Given the description of an element on the screen output the (x, y) to click on. 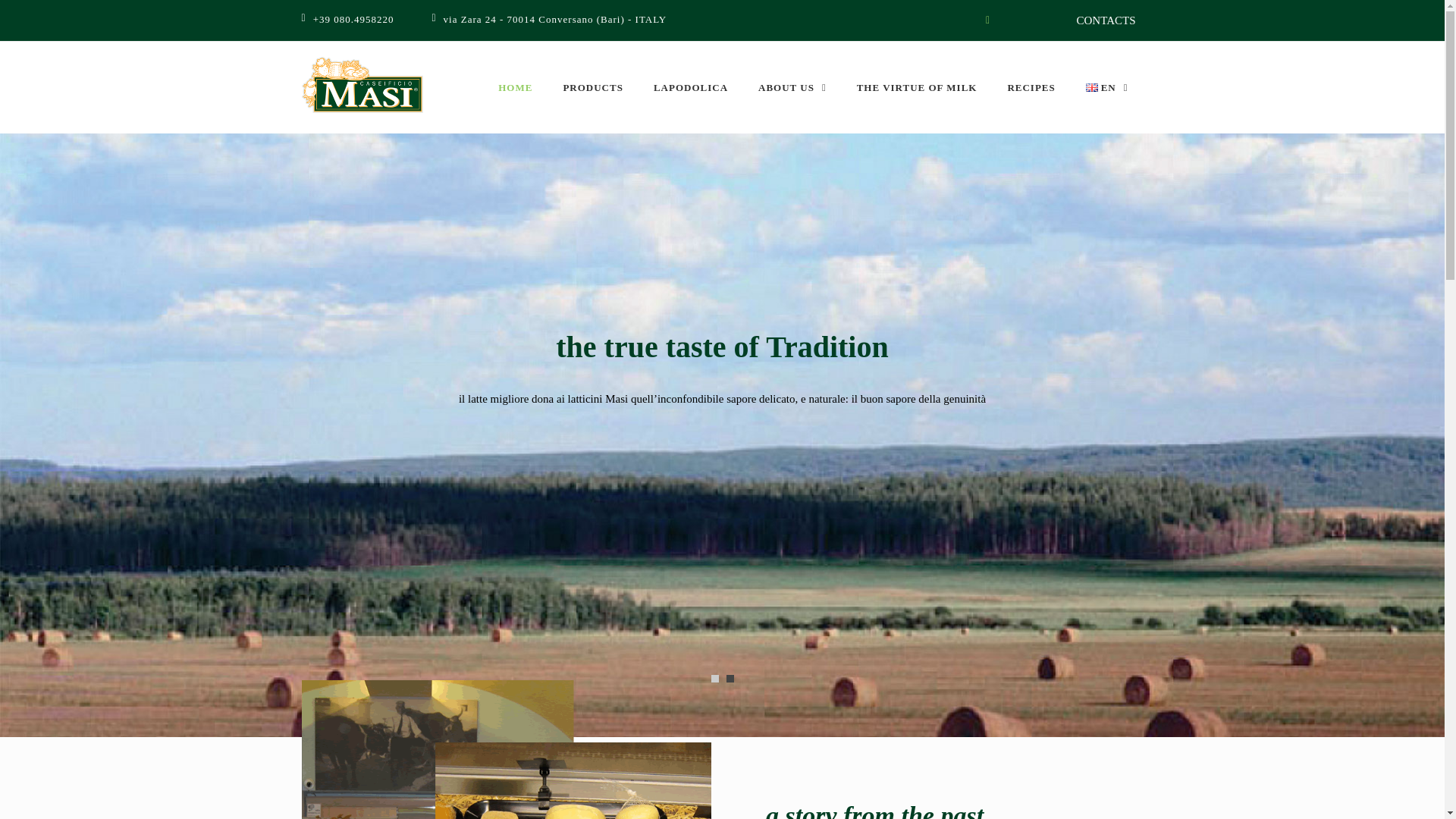
THE VIRTUE OF MILK (916, 87)
HOME (515, 87)
CONTACTS (1105, 20)
ABOUT US (791, 87)
2 (729, 678)
RECIPES (1030, 87)
EN (1106, 87)
LAPODOLICA (690, 87)
PRODUCTS (593, 87)
1 (715, 678)
